Given the description of an element on the screen output the (x, y) to click on. 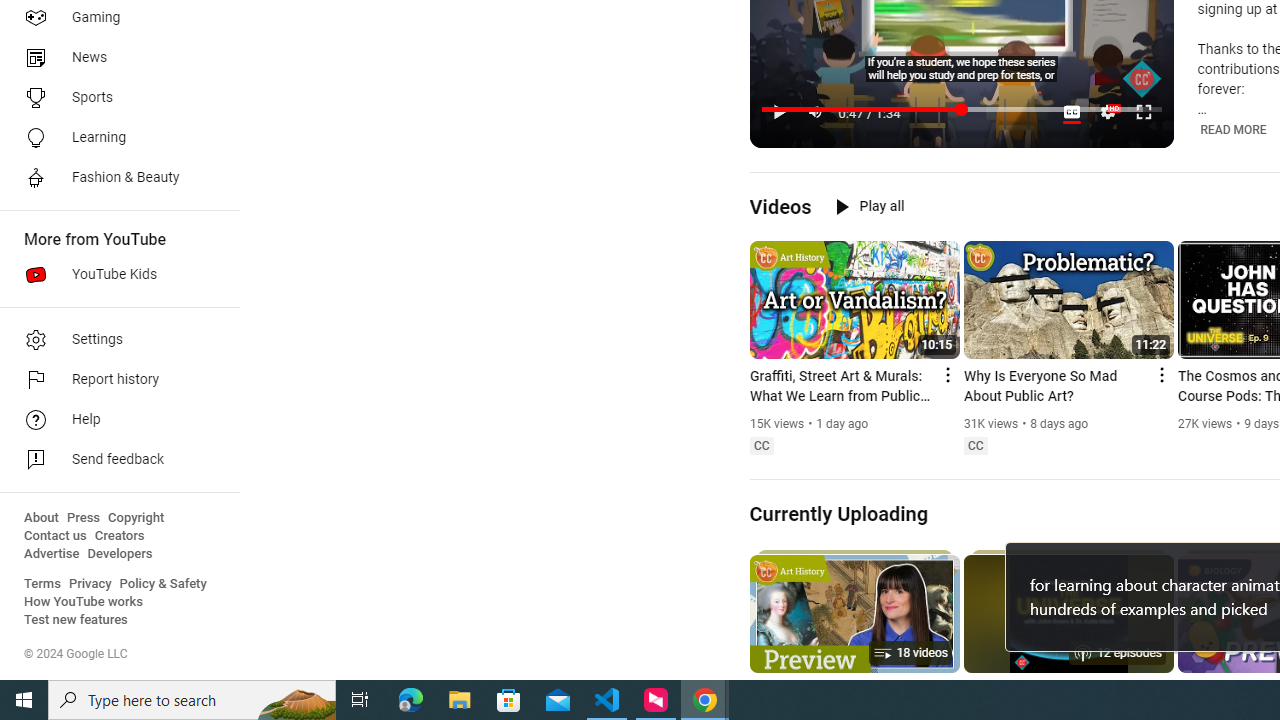
Seek slider (961, 109)
Videos (779, 206)
Full screen keyboard shortcut f (1143, 112)
YouTube Kids (113, 274)
Play all (870, 206)
Sports (113, 97)
Creators (118, 536)
Learning (113, 137)
Closed captions (975, 446)
READ MORE (1232, 129)
Fashion & Beauty (113, 177)
Developers (120, 554)
Report history (113, 380)
